Given the description of an element on the screen output the (x, y) to click on. 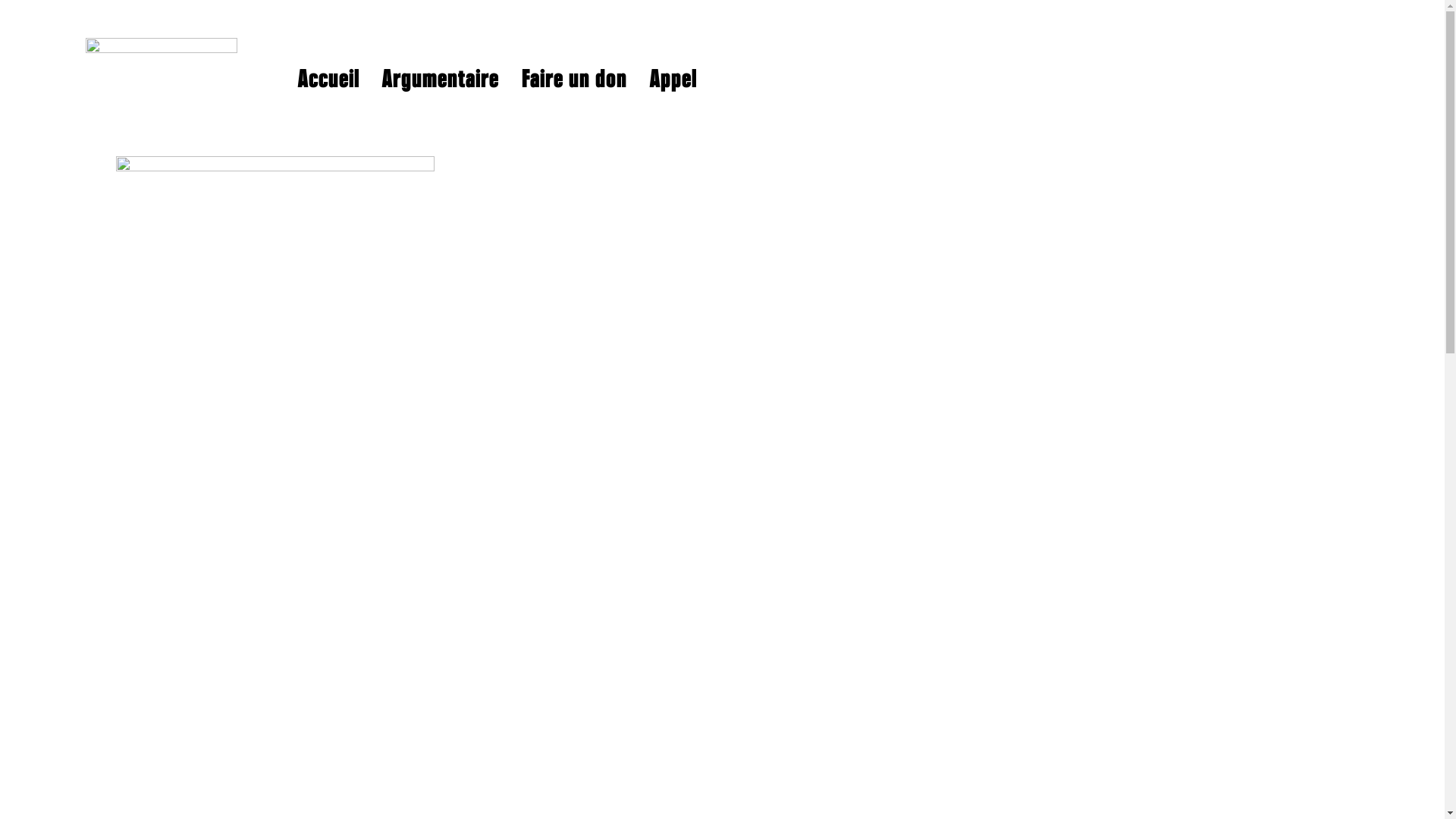
Argumentaire Element type: text (440, 79)
Accueil Element type: text (327, 79)
Faire un don Element type: text (574, 79)
Kinderabzug-Bschiss Nein Element type: hover (160, 78)
Appel Element type: text (672, 79)
